Given the description of an element on the screen output the (x, y) to click on. 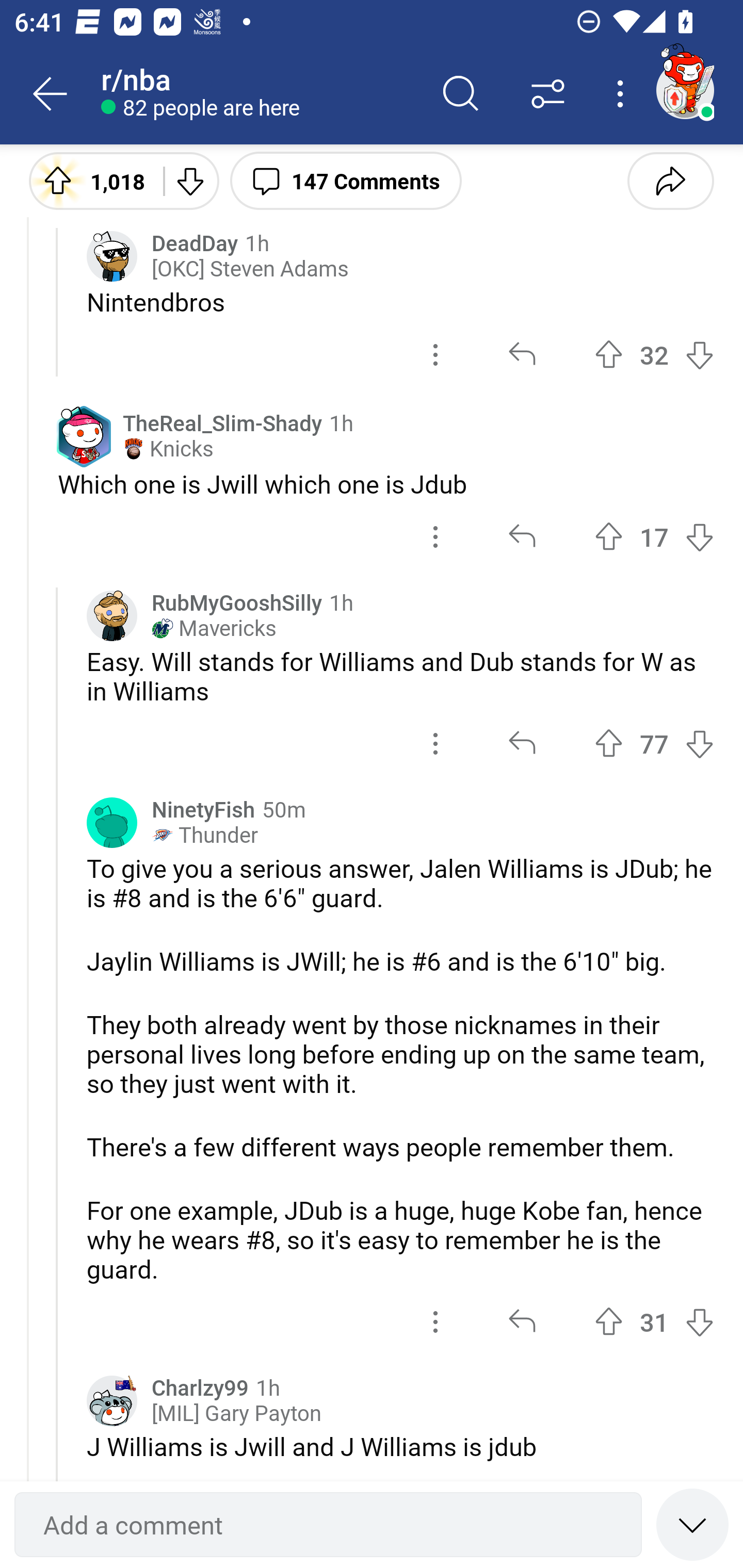
Back (50, 93)
TestAppium002 account (685, 90)
Search comments (460, 93)
Sort comments (547, 93)
More options (623, 93)
r/nba 82 people are here (259, 93)
Upvote 1,018 (88, 180)
Downvote (189, 180)
147 Comments (346, 180)
options (420, 178)
Share (670, 180)
Custom avatar (111, 256)
[OKC] Steven Adams (249, 268)
Nintendbros (400, 301)
options (435, 354)
Upvote 32 32 votes Downvote (654, 354)
￼ Knicks (167, 447)
Which one is Jwill which one is Jdub (385, 483)
options (435, 536)
Upvote 17 17 votes Downvote (654, 536)
Custom avatar (111, 616)
￼ Mavericks (214, 628)
options (435, 743)
Upvote 77 77 votes Downvote (654, 743)
Avatar (111, 823)
￼ Thunder (204, 835)
options (435, 1321)
Upvote 31 31 votes Downvote (654, 1321)
Custom avatar (111, 1400)
[MIL] Gary Payton (236, 1413)
J Williams is Jwill and J Williams is jdub (400, 1446)
Speed read (692, 1524)
Add a comment (327, 1524)
